Given the description of an element on the screen output the (x, y) to click on. 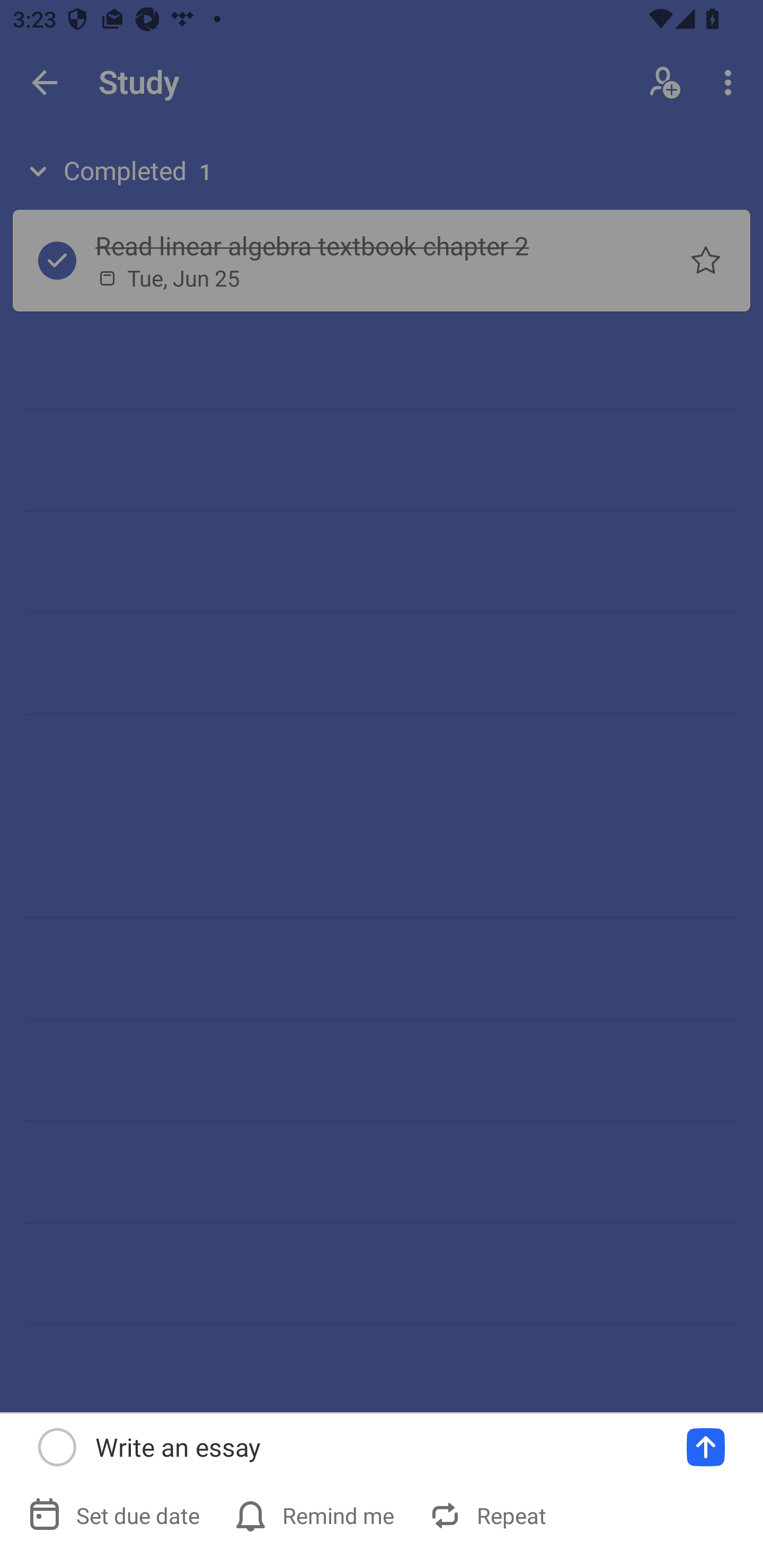
Set due date (115, 1515)
